Given the description of an element on the screen output the (x, y) to click on. 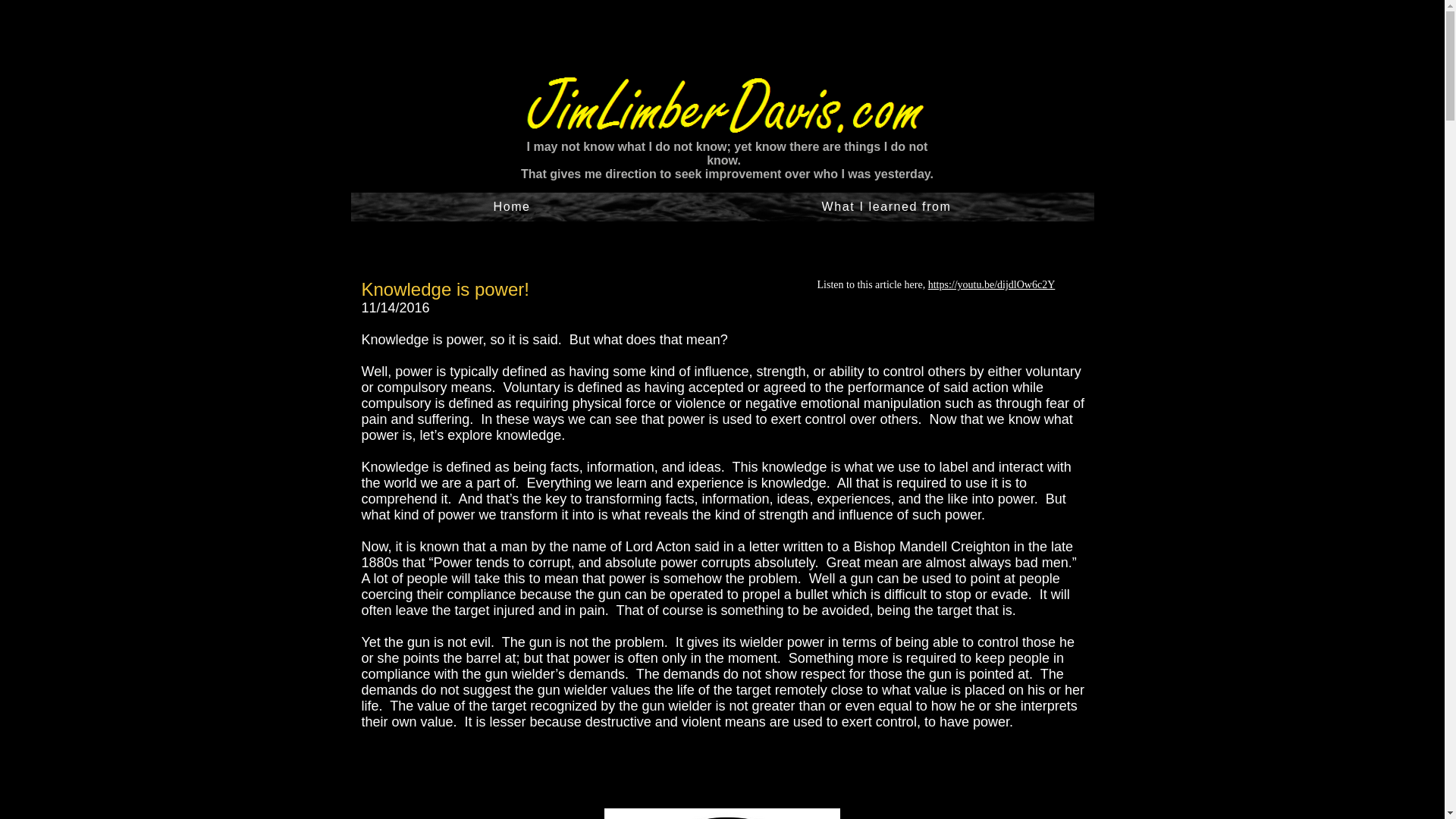
Home (511, 206)
What I learned from (886, 206)
